Given the description of an element on the screen output the (x, y) to click on. 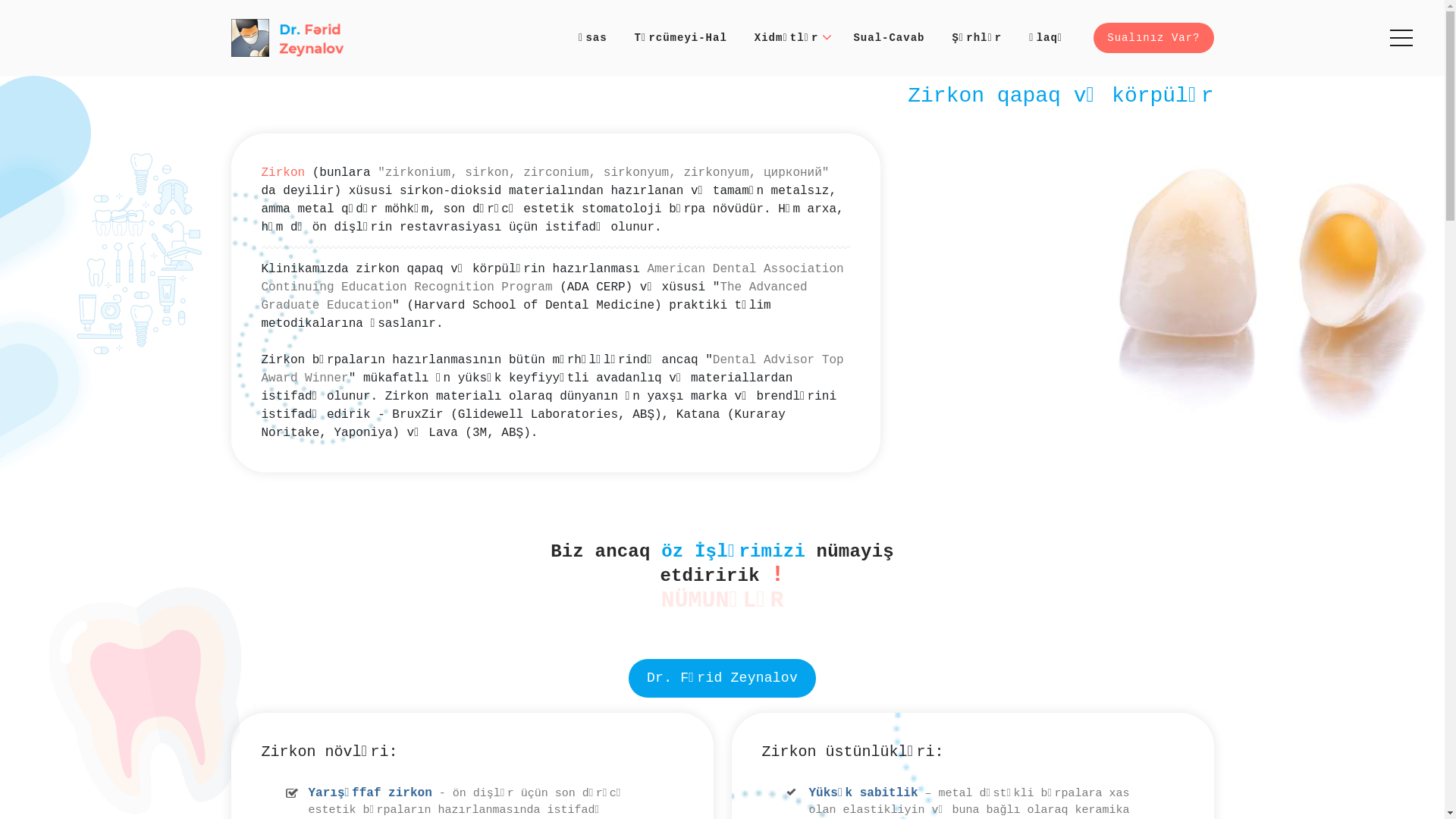
Menu Element type: text (1402, 40)
Sual-Cavab Element type: text (888, 37)
